Given the description of an element on the screen output the (x, y) to click on. 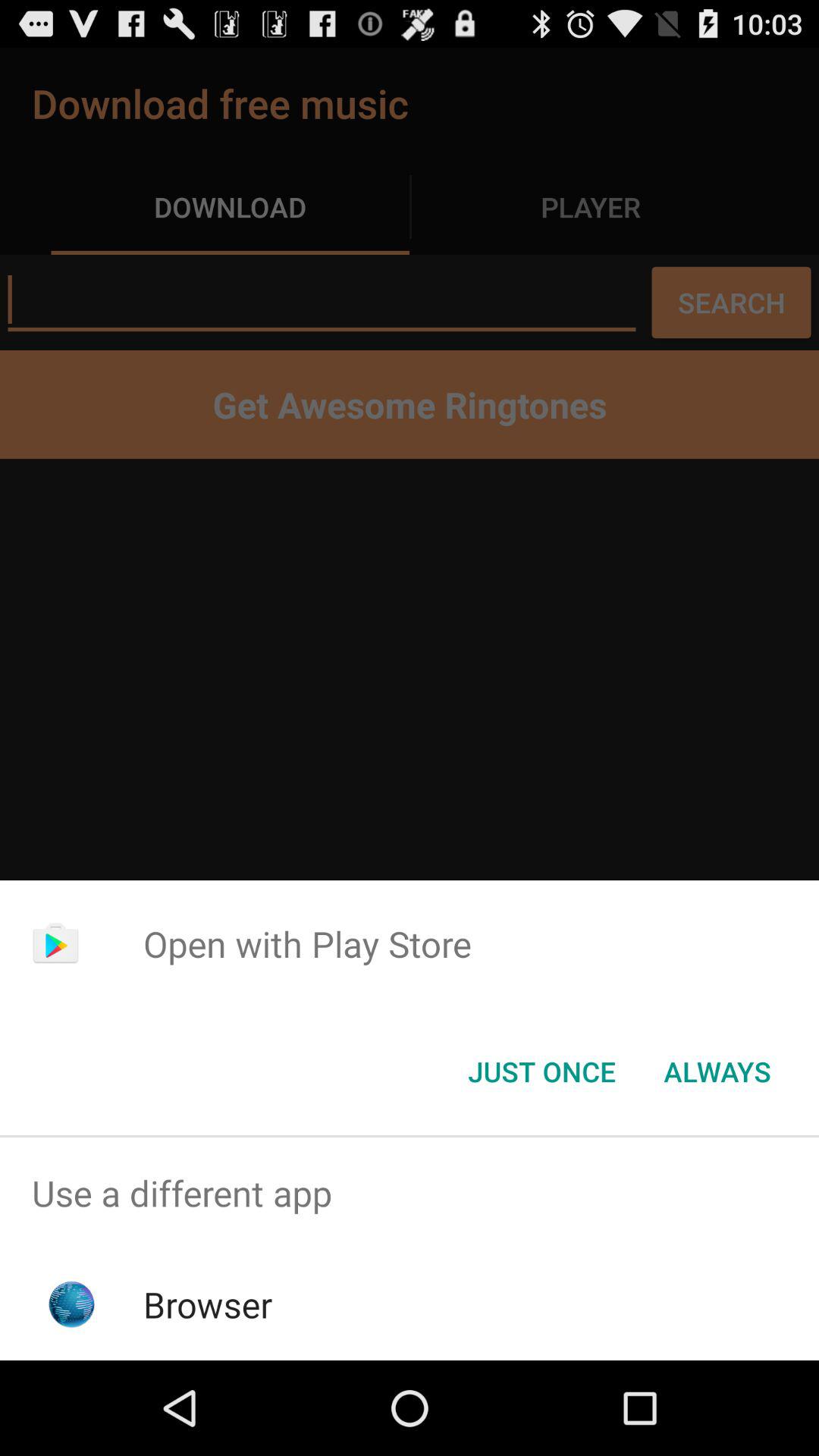
click the always item (717, 1071)
